Given the description of an element on the screen output the (x, y) to click on. 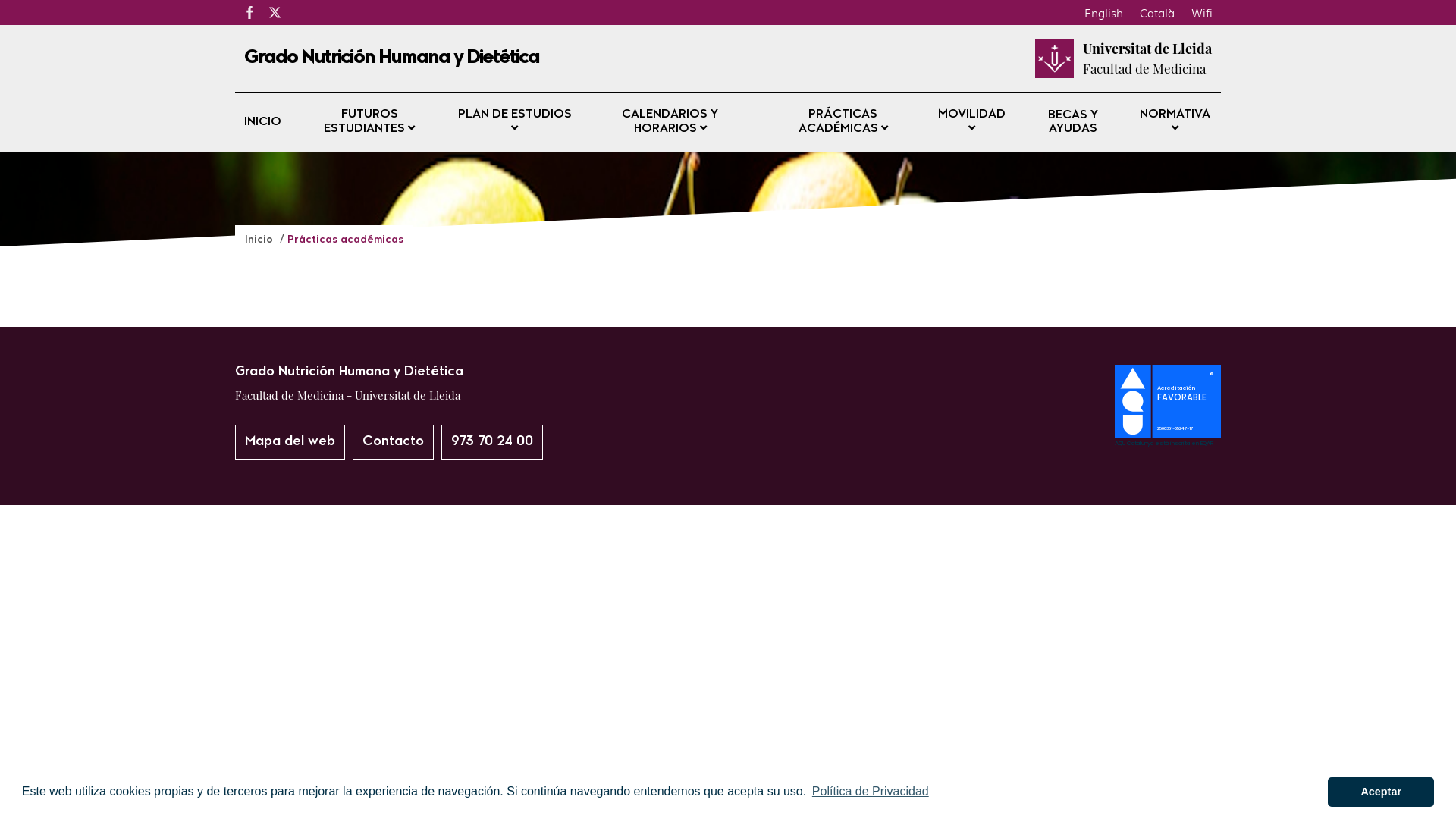
CALENDARIOS Y HORARIOS Element type: text (669, 122)
NORMATIVA Element type: text (1174, 122)
MOVILIDAD Element type: text (971, 122)
English Element type: text (1103, 12)
Contacto Element type: text (392, 441)
Mapa del web Element type: text (290, 441)
Universitat de Lleida
Facultad de Medicina Element type: text (1146, 58)
Inicio Element type: text (260, 239)
BECAS Y AYUDAS Element type: text (1072, 121)
INICIO Element type: text (262, 122)
PLAN DE ESTUDIOS Element type: text (514, 122)
Aceptar Element type: text (1380, 791)
SegellAcreditacioAQU_GNHDietetica_es Element type: hover (1167, 441)
973 70 24 00 Element type: text (491, 441)
FUTUROS ESTUDIANTES Element type: text (369, 122)
Wifi Element type: text (1201, 12)
